Given the description of an element on the screen output the (x, y) to click on. 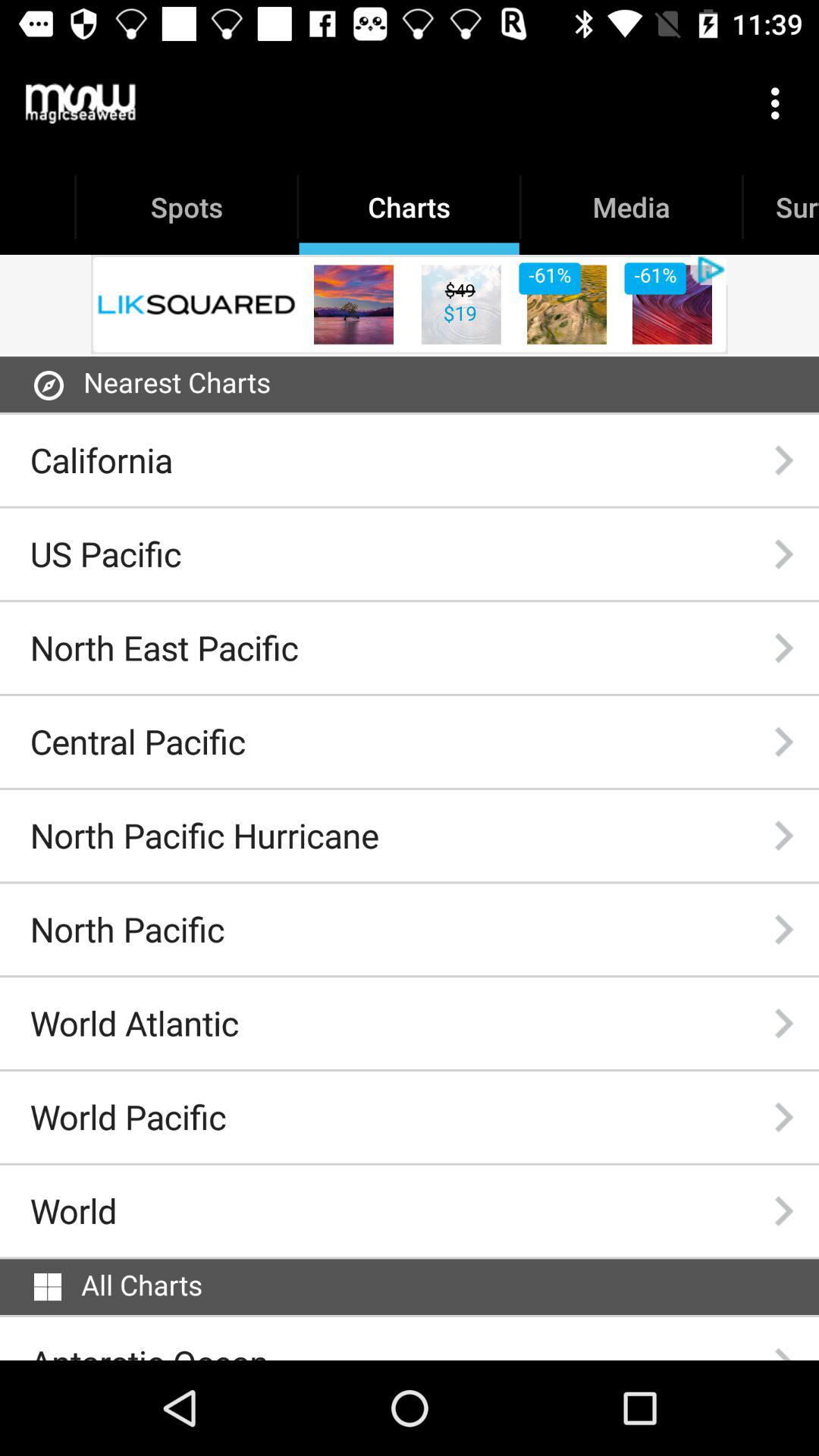
turn on item next to the nearest charts icon (48, 385)
